Given the description of an element on the screen output the (x, y) to click on. 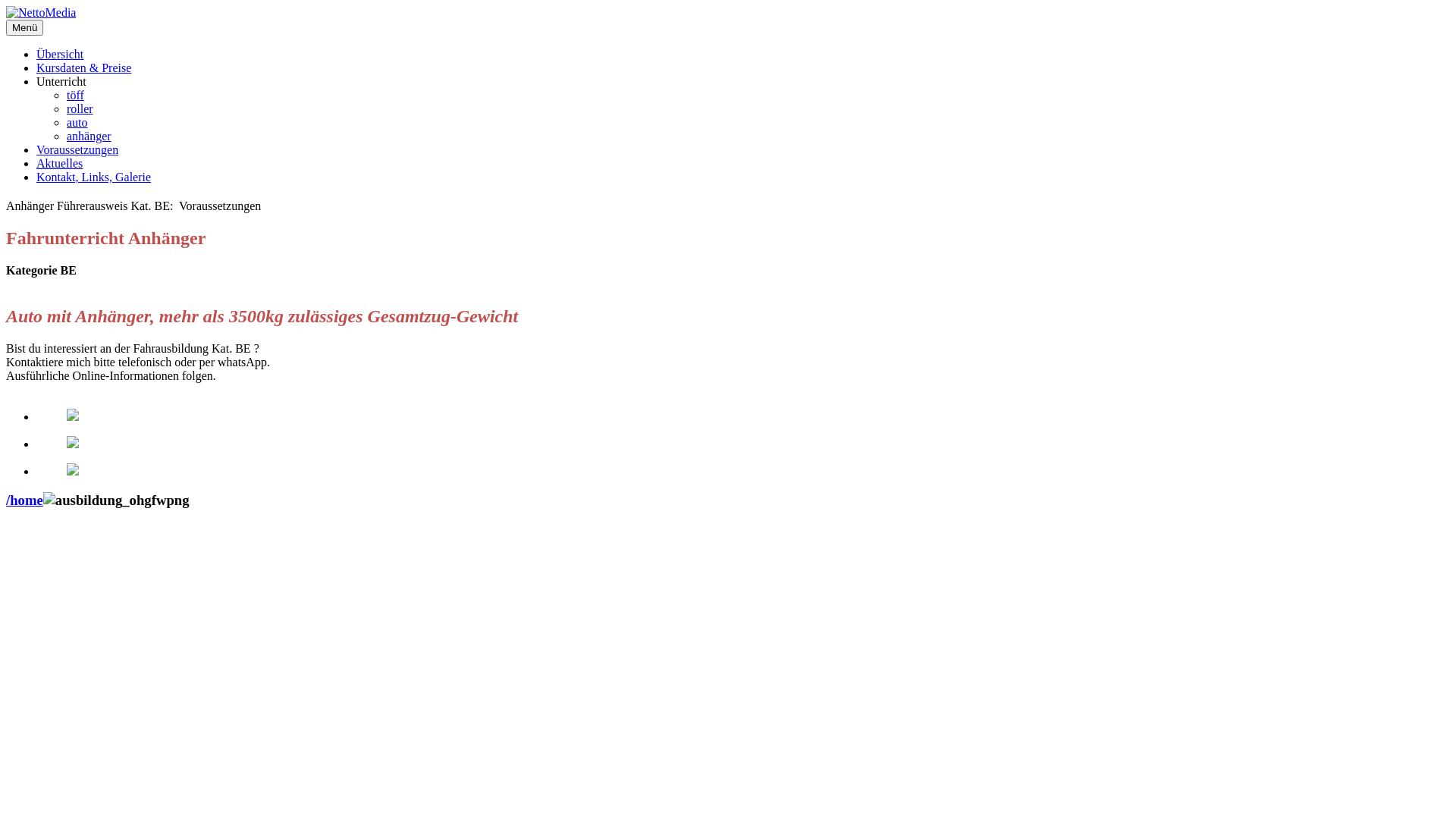
Kontakt, Links, Galerie Element type: text (93, 176)
Kursdaten & Preise Element type: text (83, 67)
auto Element type: text (76, 122)
Aktuelles Element type: text (59, 162)
Voraussetzungen Element type: text (77, 149)
NettoMedia  Element type: hover (40, 12)
/home Element type: text (24, 500)
roller Element type: text (79, 108)
